Given the description of an element on the screen output the (x, y) to click on. 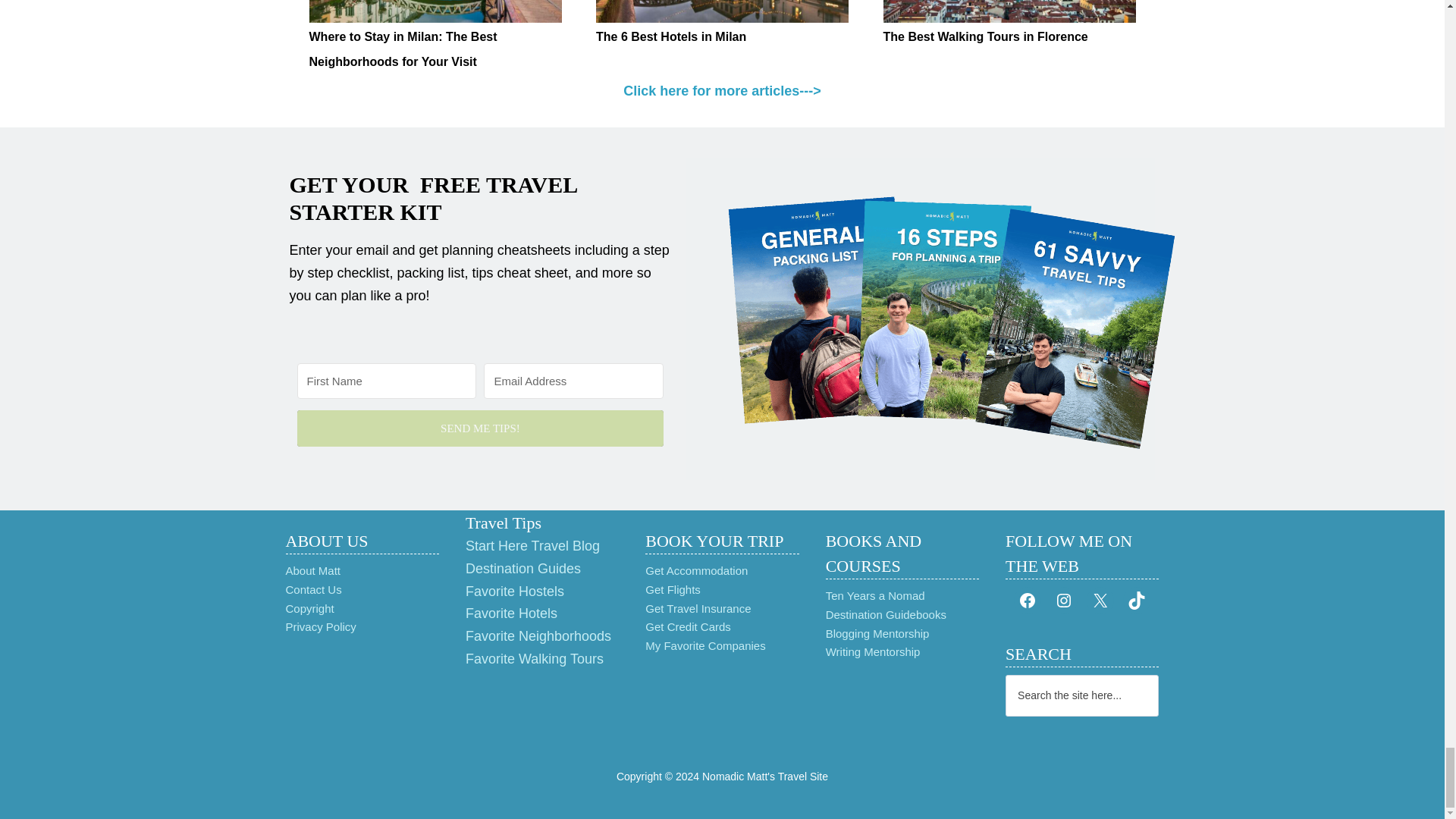
The Best Walking Tours in Florence (984, 36)
The Best Walking Tours in Florence (1008, 11)
The 6 Best Hotels in Milan (670, 36)
The 6 Best Hotels in Milan (721, 11)
